Given the description of an element on the screen output the (x, y) to click on. 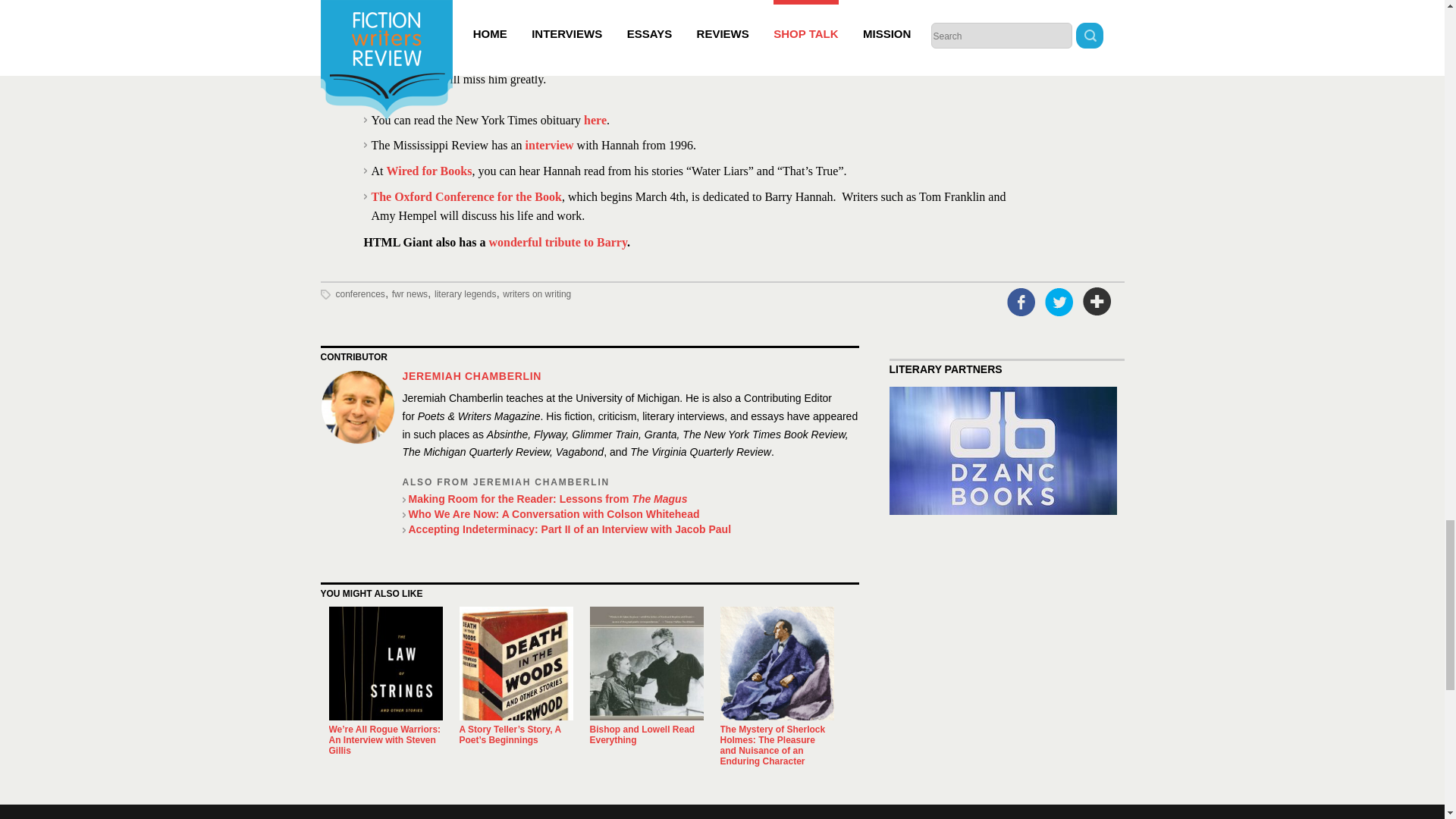
Who We Are Now: A Conversation with Colson Whitehead (630, 513)
Making Room for the Reader: Lessons from The Magus (630, 498)
Bishop and Lowell Read Everything (646, 663)
JEREMIAH CHAMBERLIN (471, 376)
wonderful tribute to Barry (557, 241)
literary legends (464, 294)
conferences (359, 294)
The Oxford Conference for the Book (466, 196)
here (595, 119)
Save (1097, 301)
Share on Twitter (1059, 301)
Bishop and Lowell Read Everything (642, 734)
fwr news (409, 294)
Share on Facebook (1021, 301)
